Given the description of an element on the screen output the (x, y) to click on. 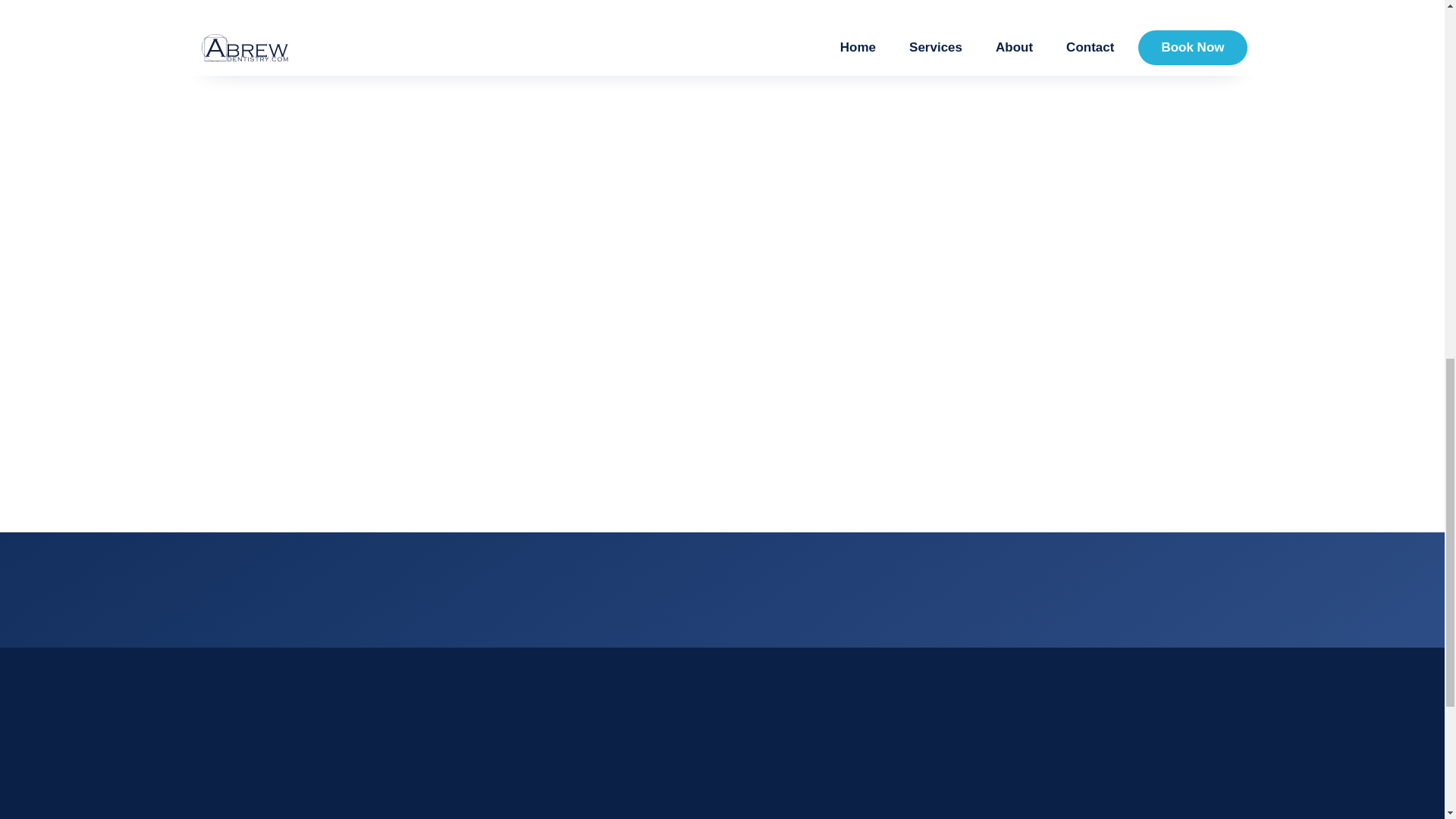
Submit (982, 384)
